Given the description of an element on the screen output the (x, y) to click on. 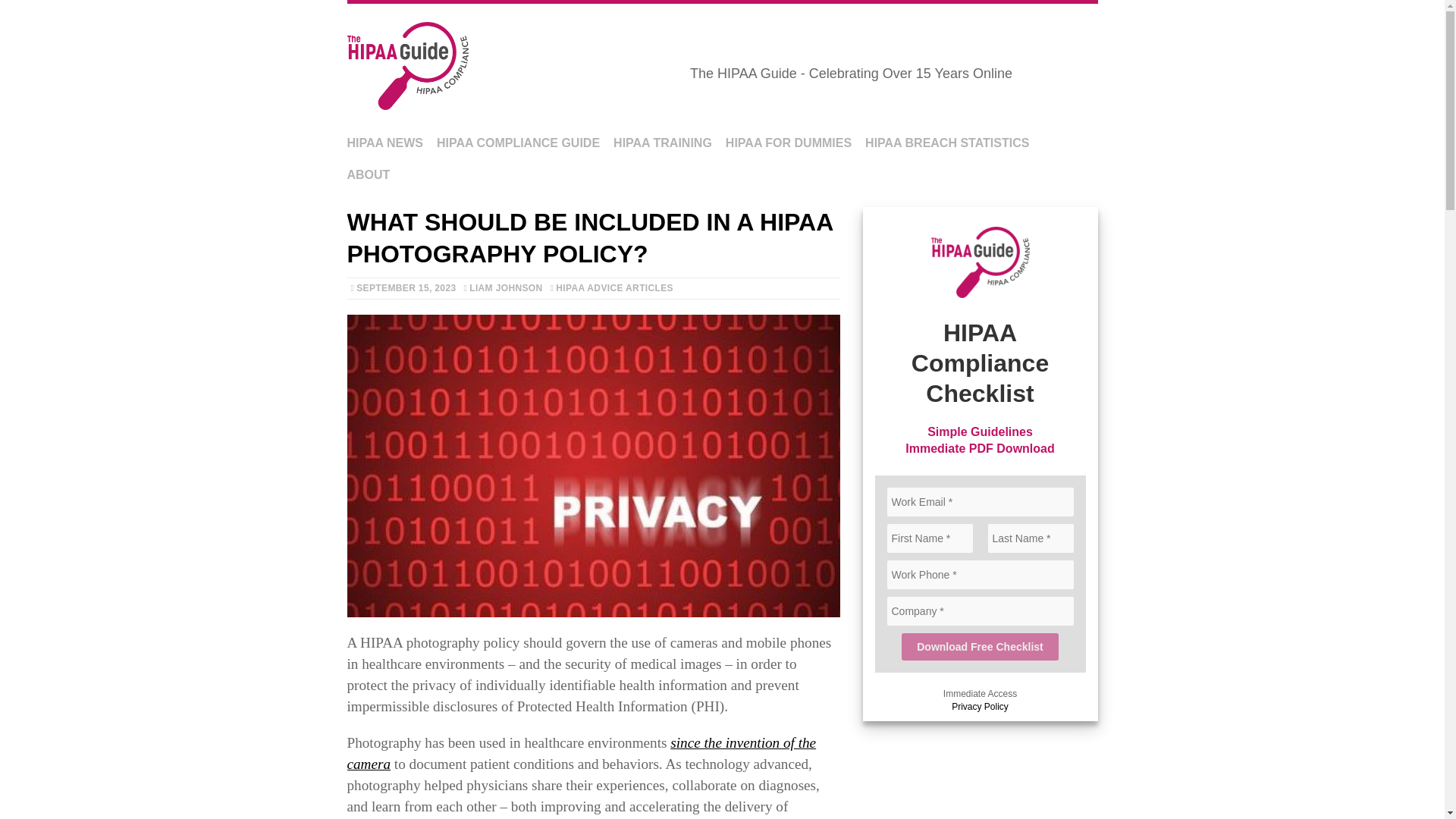
HIPAA NEWS (385, 143)
HIPAA TRAINING (661, 143)
Posts by Liam Johnson (504, 287)
The HIPAA Guide (722, 65)
HIPAA COMPLIANCE GUIDE (517, 143)
